Given the description of an element on the screen output the (x, y) to click on. 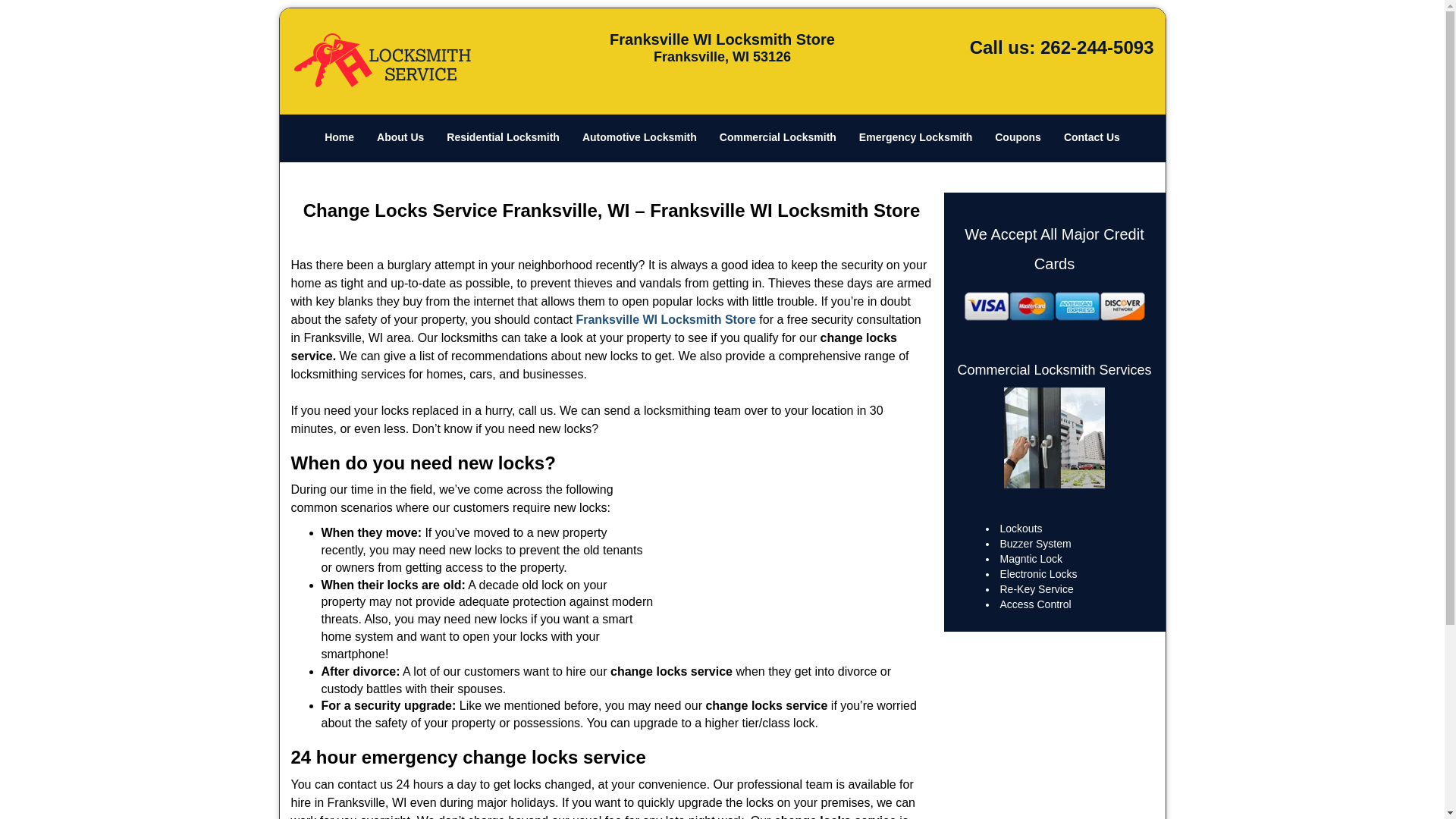
Franksville WI Locksmith Store Franksville, WI 262-244-5093 (1054, 305)
Franksville WI Locksmith Store (665, 318)
Automotive Locksmith (638, 138)
About Us (400, 138)
Emergency Locksmith (915, 138)
Coupons (1018, 138)
Franksville WI Locksmith Store Franksville, WI 262-244-5093 (1054, 437)
Franksville WI Locksmith Store Franksville, WI 262-244-5093 (792, 547)
Commercial Locksmith (777, 138)
Residential Locksmith (502, 138)
Home (339, 138)
Commercial Locksmith Services (1053, 370)
Contact Us (1091, 138)
262-244-5093 (1097, 46)
